Given the description of an element on the screen output the (x, y) to click on. 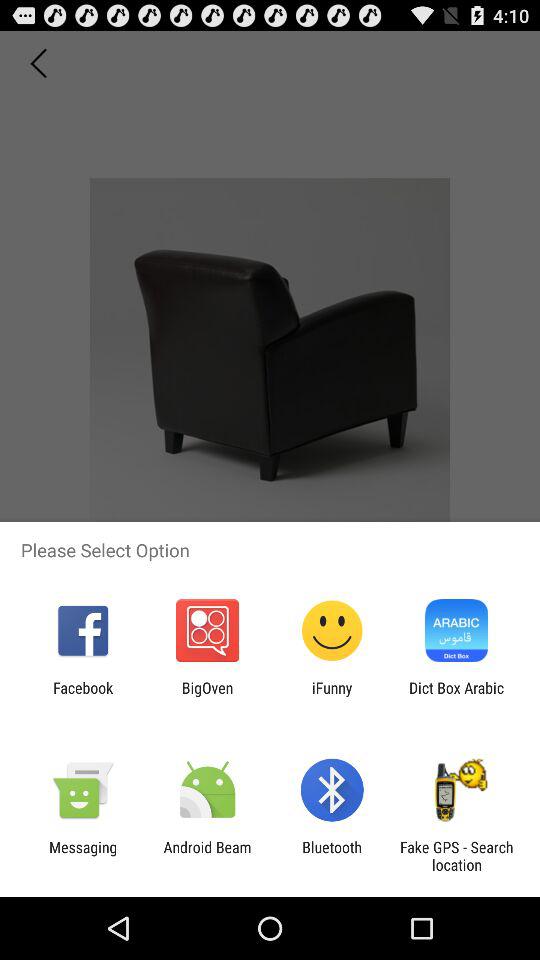
launch the bluetooth icon (331, 856)
